Given the description of an element on the screen output the (x, y) to click on. 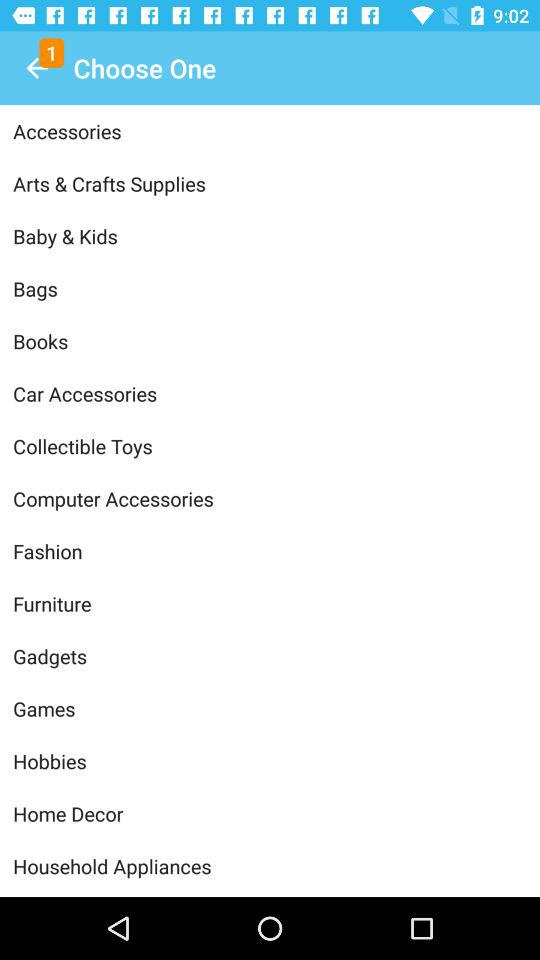
press item to the left of the choose one icon (36, 68)
